Given the description of an element on the screen output the (x, y) to click on. 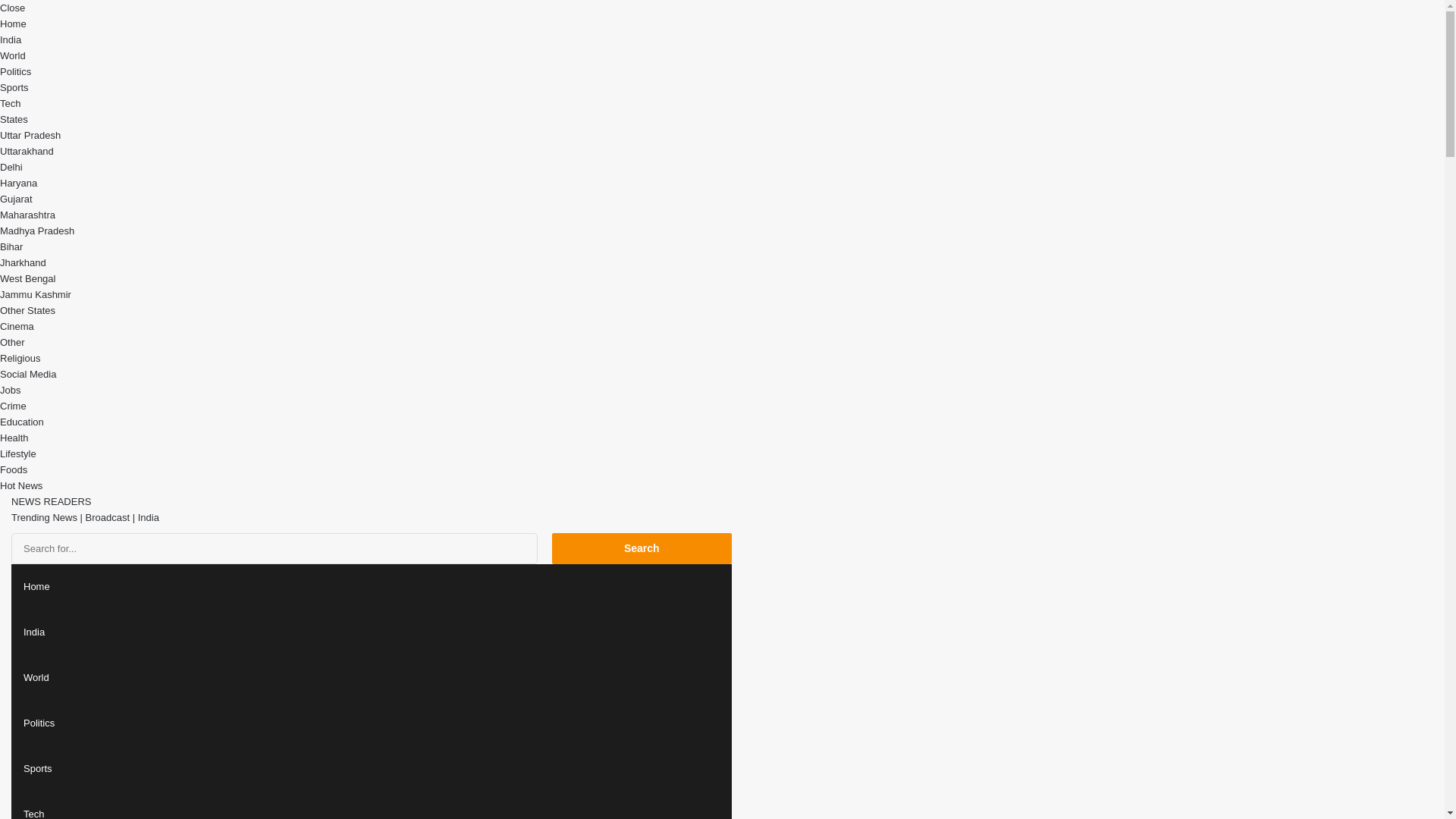
Other (12, 342)
Search (641, 548)
Politics (15, 71)
Uttarakhand (26, 151)
Tech (10, 102)
NEWS READERS (50, 501)
Jammu Kashmir (35, 294)
Education (21, 421)
Social Media (28, 374)
India (10, 39)
Other States (27, 310)
Lifestyle (18, 453)
Home (13, 23)
Foods (13, 469)
West Bengal (27, 278)
